Given the description of an element on the screen output the (x, y) to click on. 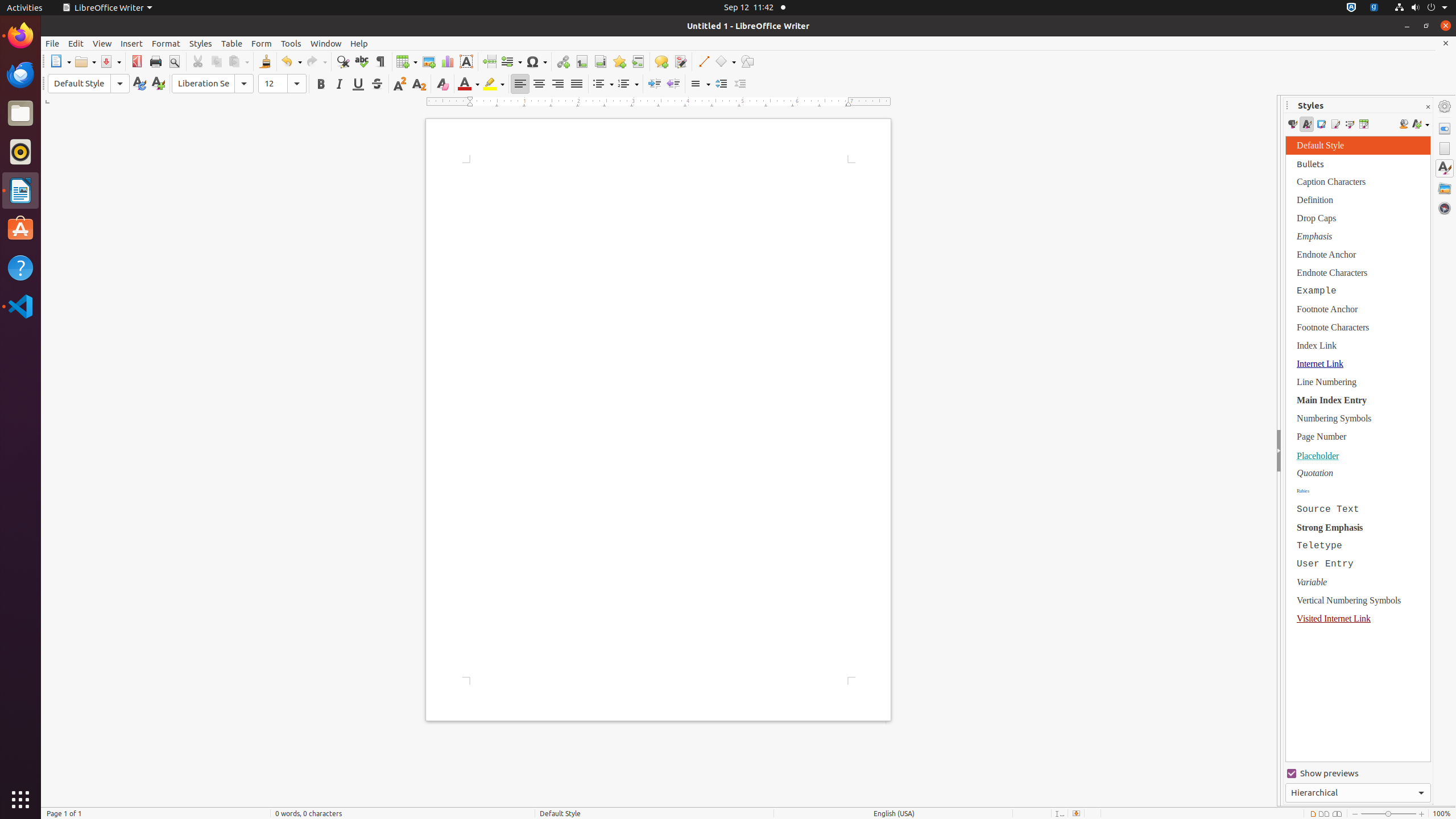
Hyperlink Element type: toggle-button (562, 61)
View Element type: menu (102, 43)
Styles actions Element type: push-button (1420, 123)
Print Preview Element type: toggle-button (173, 61)
Spelling Element type: push-button (361, 61)
